Given the description of an element on the screen output the (x, y) to click on. 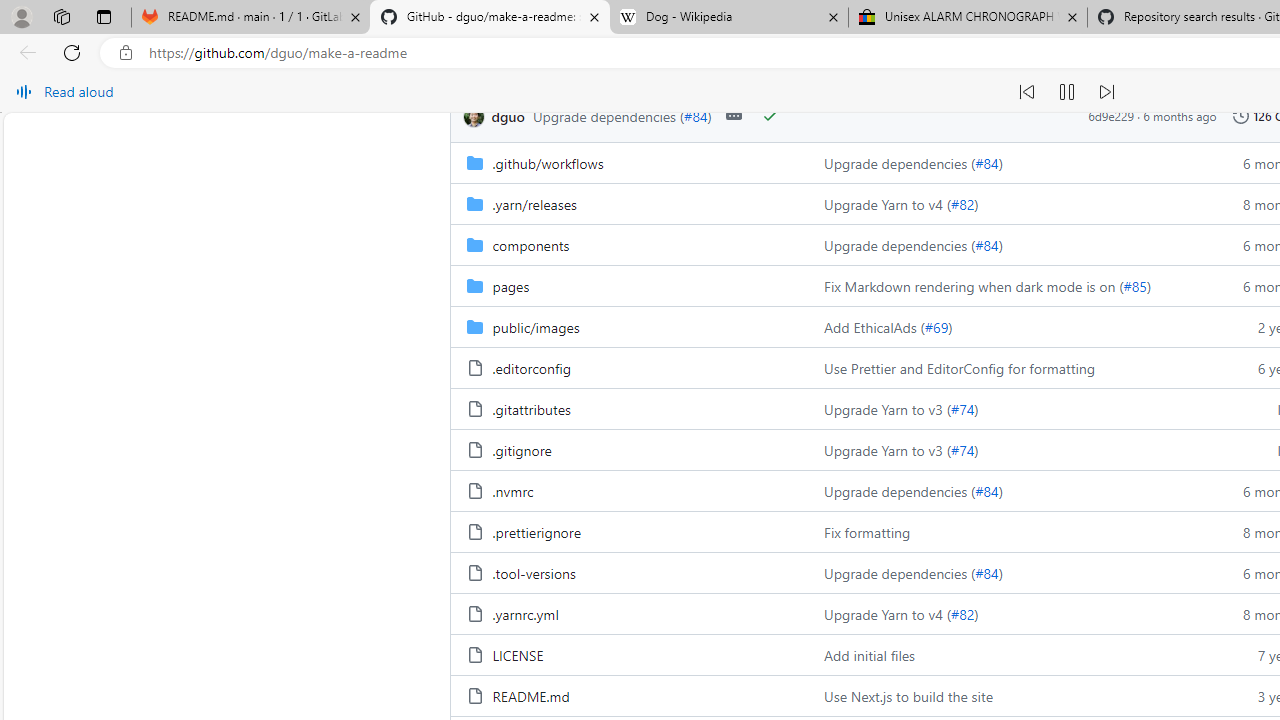
Upgrade Yarn to v3 (#74) (1008, 449)
.nvmrc, (File) (512, 490)
Fix formatting (1008, 531)
public/images, (Directory) (535, 326)
Fix formatting (867, 532)
.editorconfig, (File) (629, 367)
Upgrade Yarn to v4 ( (887, 614)
Dog - Wikipedia (729, 17)
Fix Markdown rendering when dark mode is on ( (973, 285)
#69 (936, 326)
Upgrade Yarn to v3 ( (887, 449)
) (976, 614)
